Given the description of an element on the screen output the (x, y) to click on. 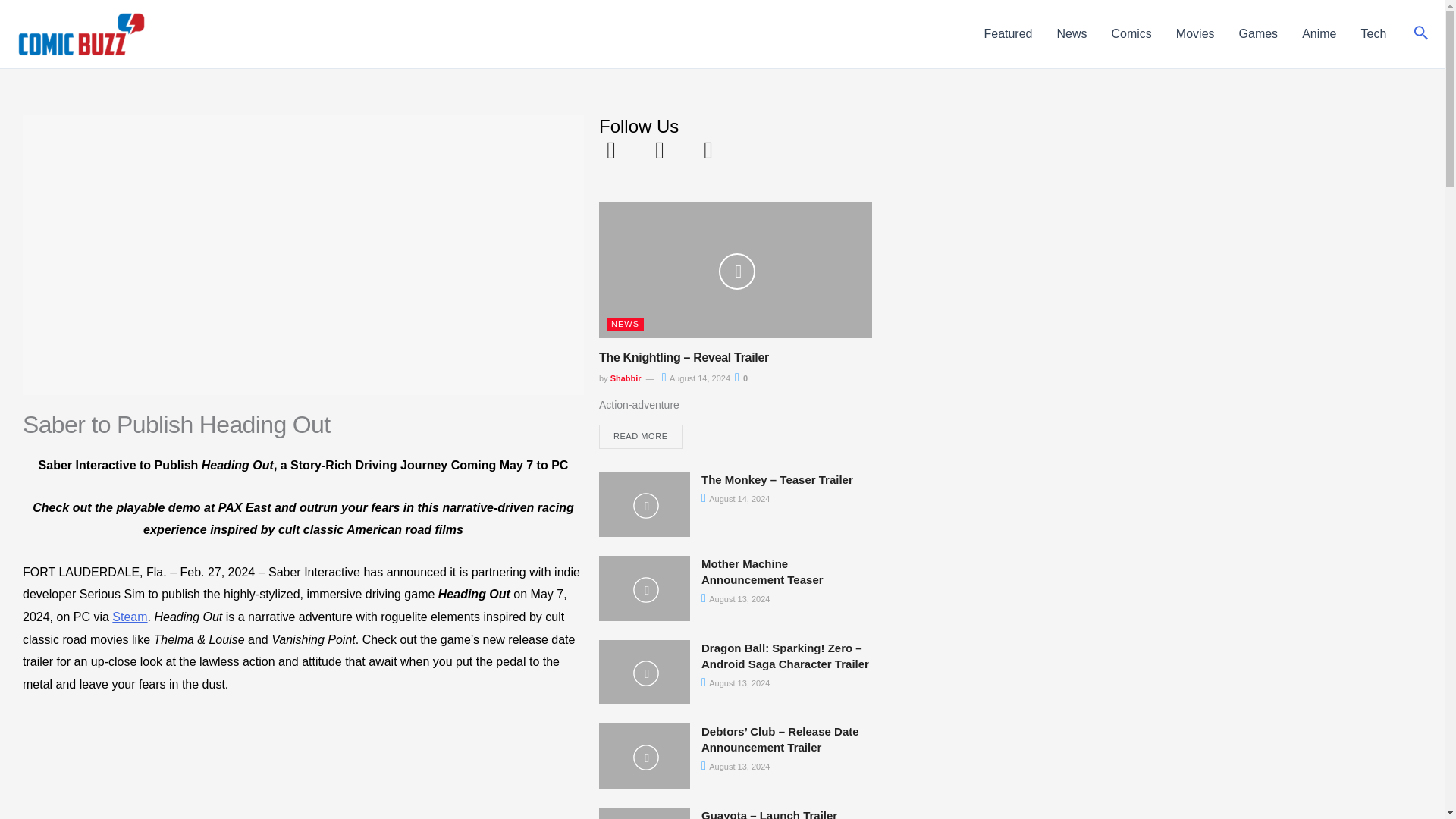
News (1072, 34)
Games (1258, 34)
YouTube video player (303, 766)
Featured (1007, 34)
Movies (1195, 34)
Comics (1131, 34)
Steam (129, 616)
Anime (1319, 34)
